Given the description of an element on the screen output the (x, y) to click on. 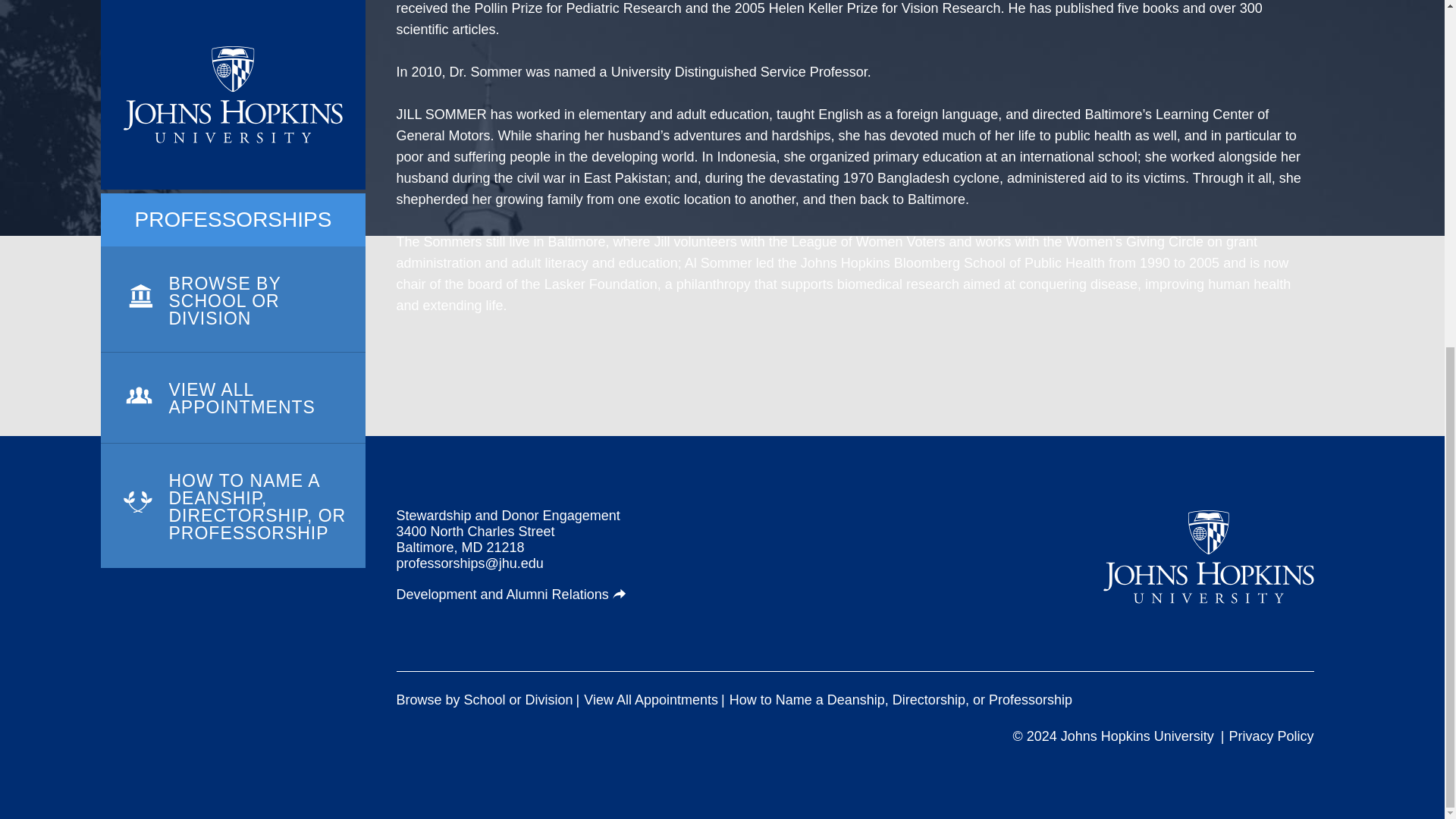
Development and Alumni Relations (511, 594)
Privacy Policy (1270, 735)
Browse by School or Division (484, 699)
How to Name a Deanship, Directorship, or Professorship (900, 699)
View All Appointments (650, 699)
JHU Professorships (1208, 556)
